Given the description of an element on the screen output the (x, y) to click on. 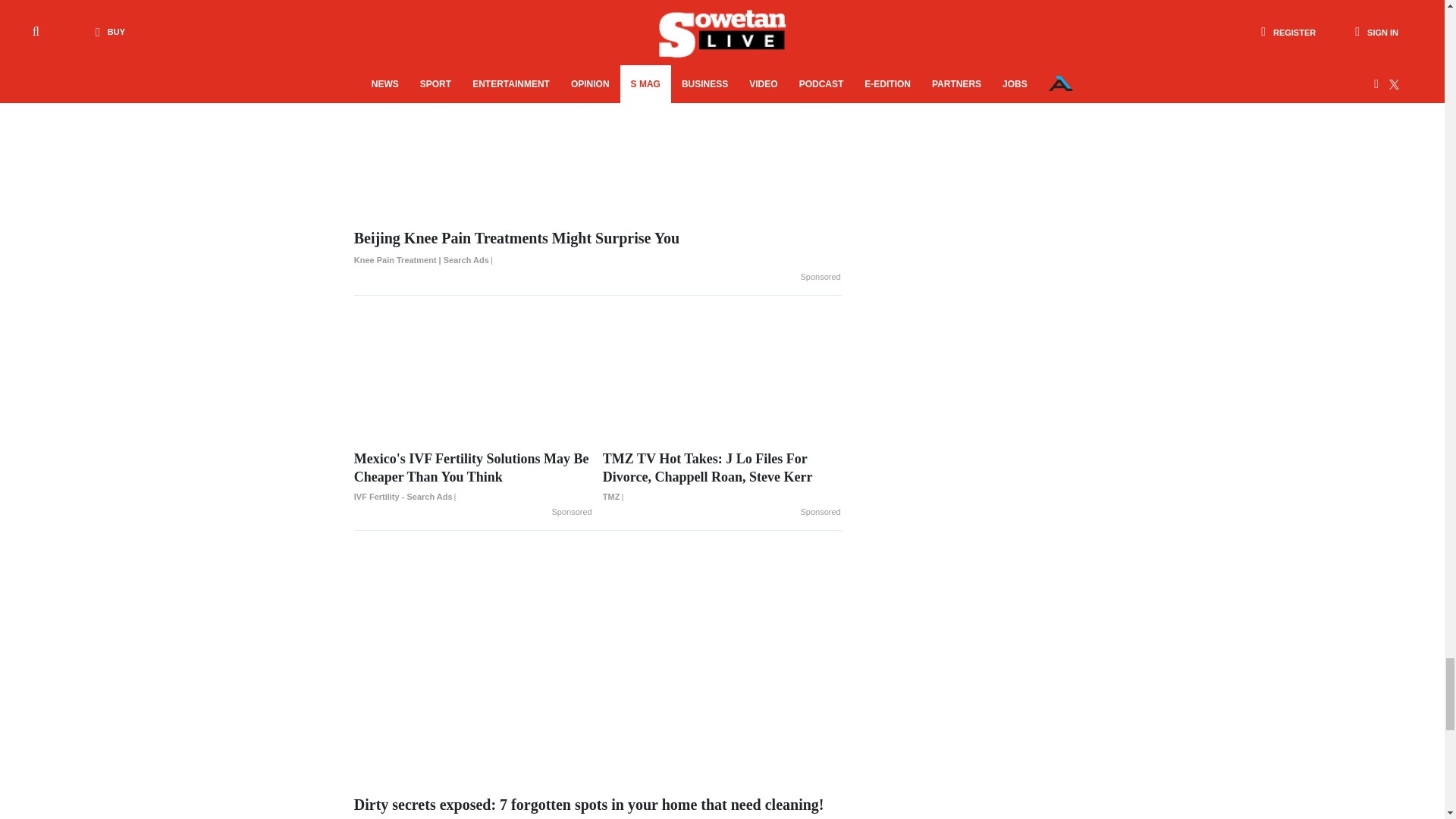
Beijing Knee Pain Treatments Might Surprise You (597, 249)
